Given the description of an element on the screen output the (x, y) to click on. 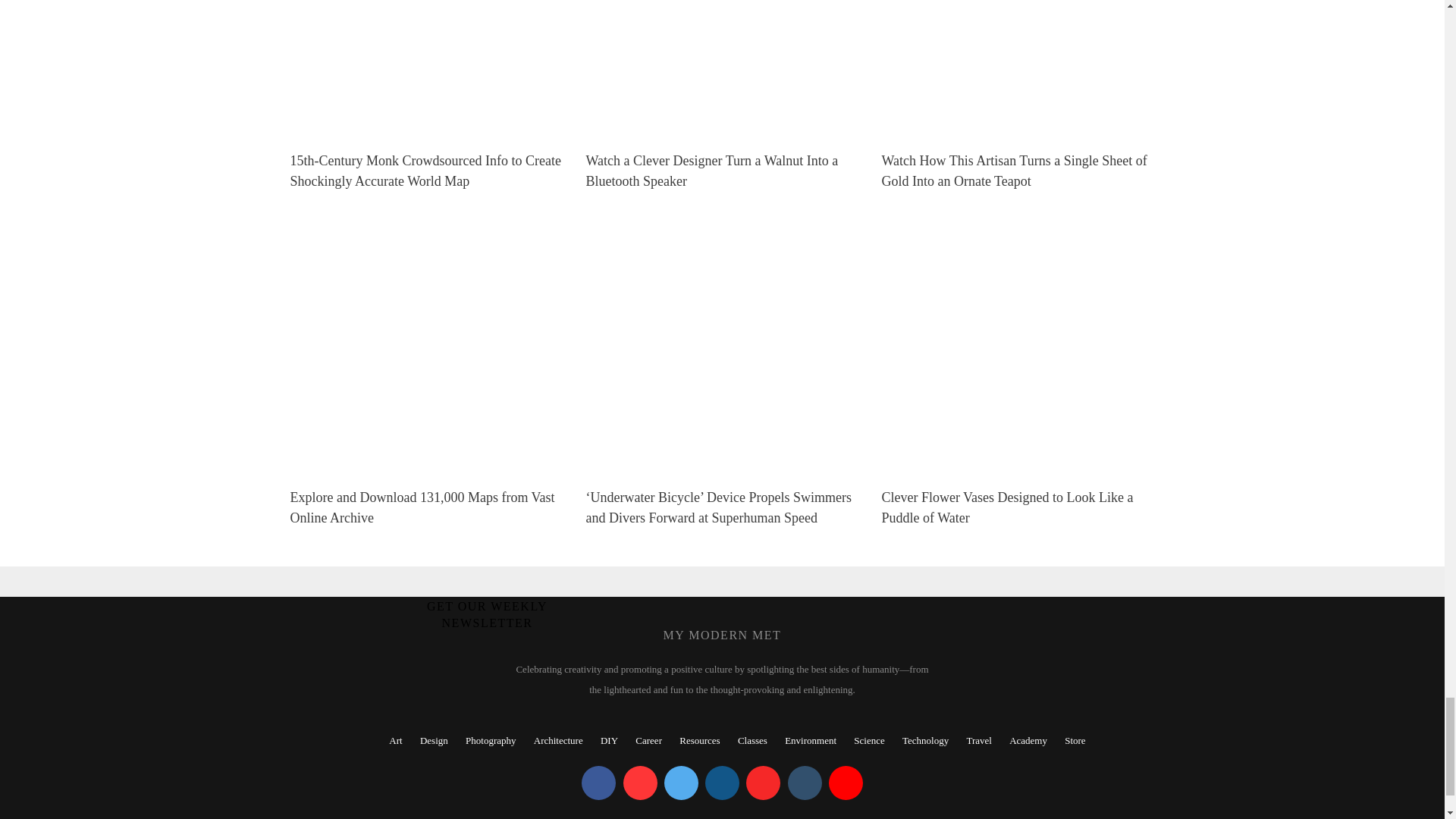
My Modern Met on YouTube (845, 782)
My Modern Met on Instagram (721, 782)
My Modern Met on Twitter (680, 782)
My Modern Met on Tumblr (804, 782)
My Modern Met on Pinterest (640, 782)
My Modern Met on Facebook (597, 782)
